Given the description of an element on the screen output the (x, y) to click on. 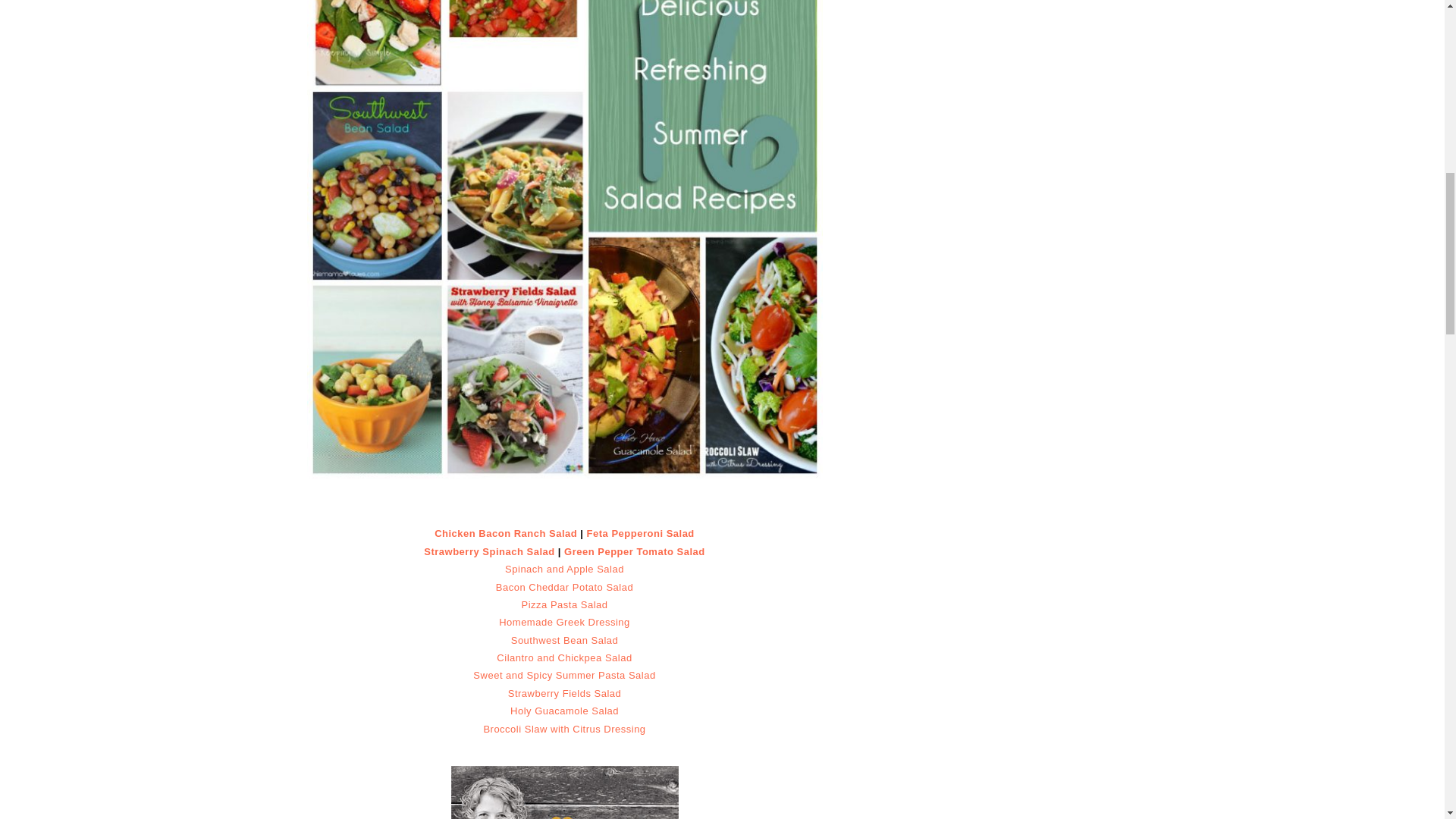
Southwest Bean Salad (564, 640)
Homemade Greek Dressing (564, 622)
Broccoli Slaw with Citrus Dressing (564, 728)
Spinach and Apple Salad (564, 568)
Sweet and Spicy Summer Pasta Salad (564, 674)
Feta Pepperoni Salad (640, 532)
Cilantro and Chickpea Salad (563, 657)
Pizza Pasta Salad (564, 604)
Green Pepper Tomato Salad (634, 551)
Bacon Cheddar Potato Salad (564, 586)
